Given the description of an element on the screen output the (x, y) to click on. 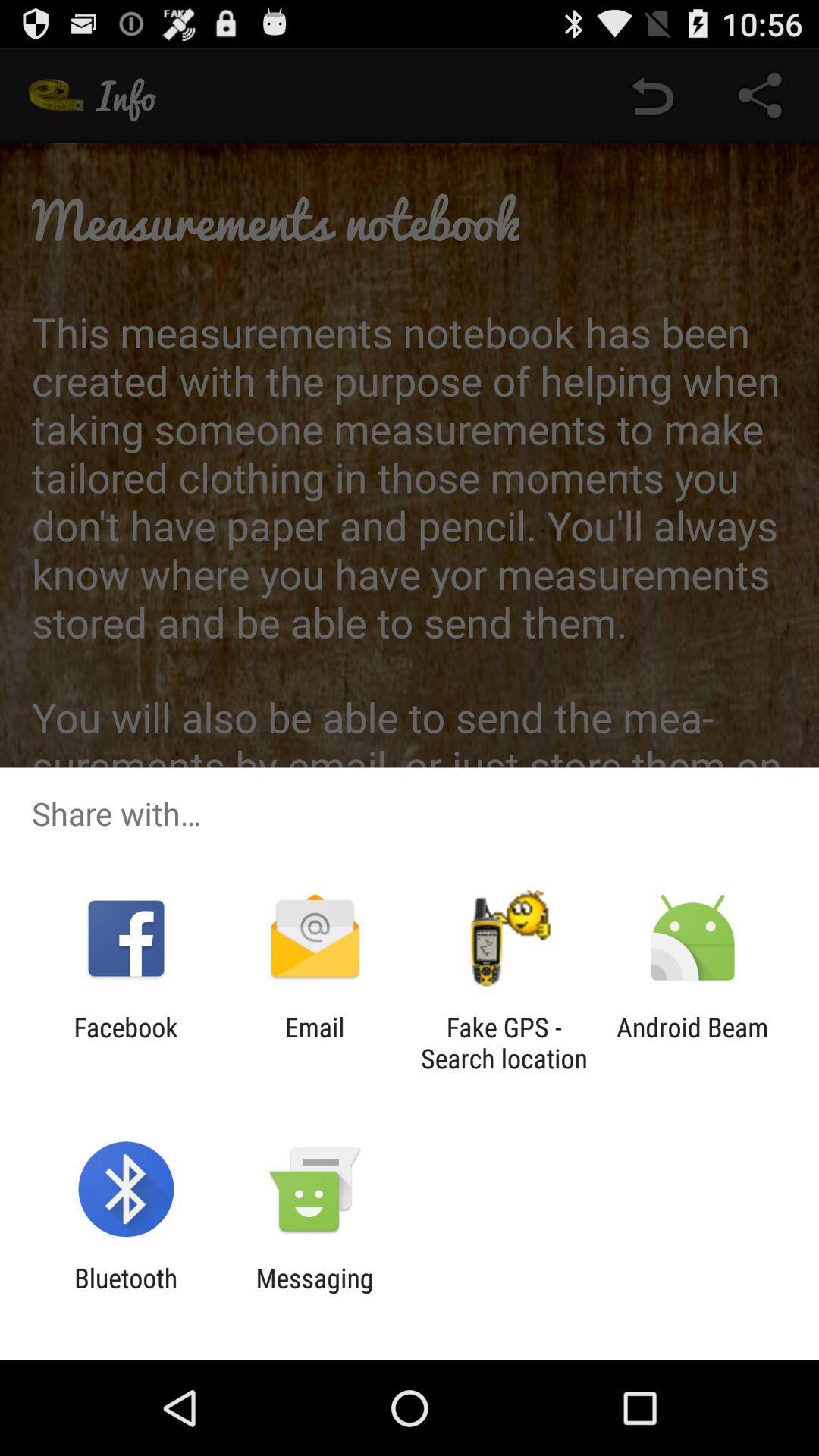
turn on the item next to the fake gps search (314, 1042)
